Given the description of an element on the screen output the (x, y) to click on. 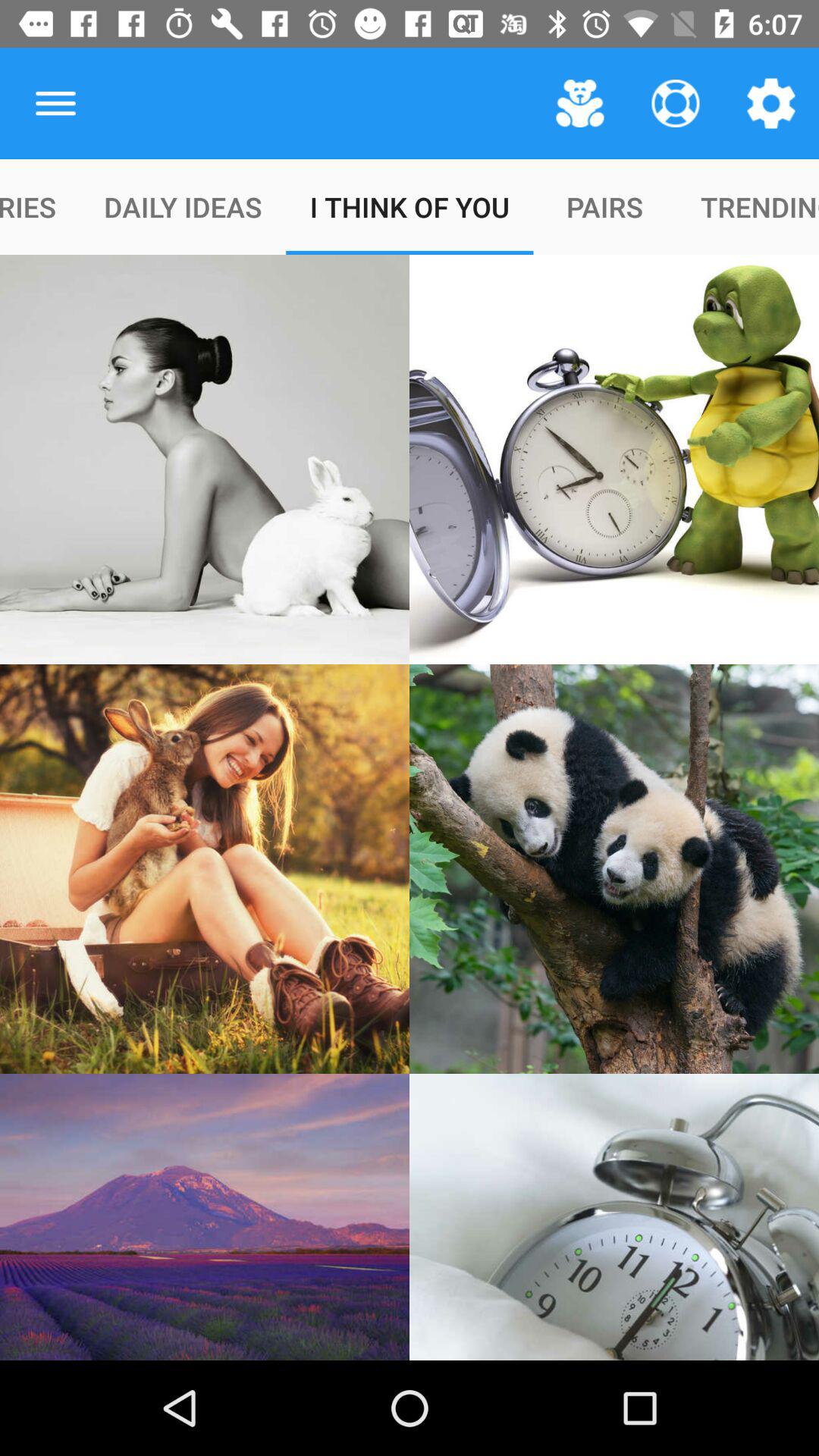
turn off the icon to the right of (579, 103)
